Given the description of an element on the screen output the (x, y) to click on. 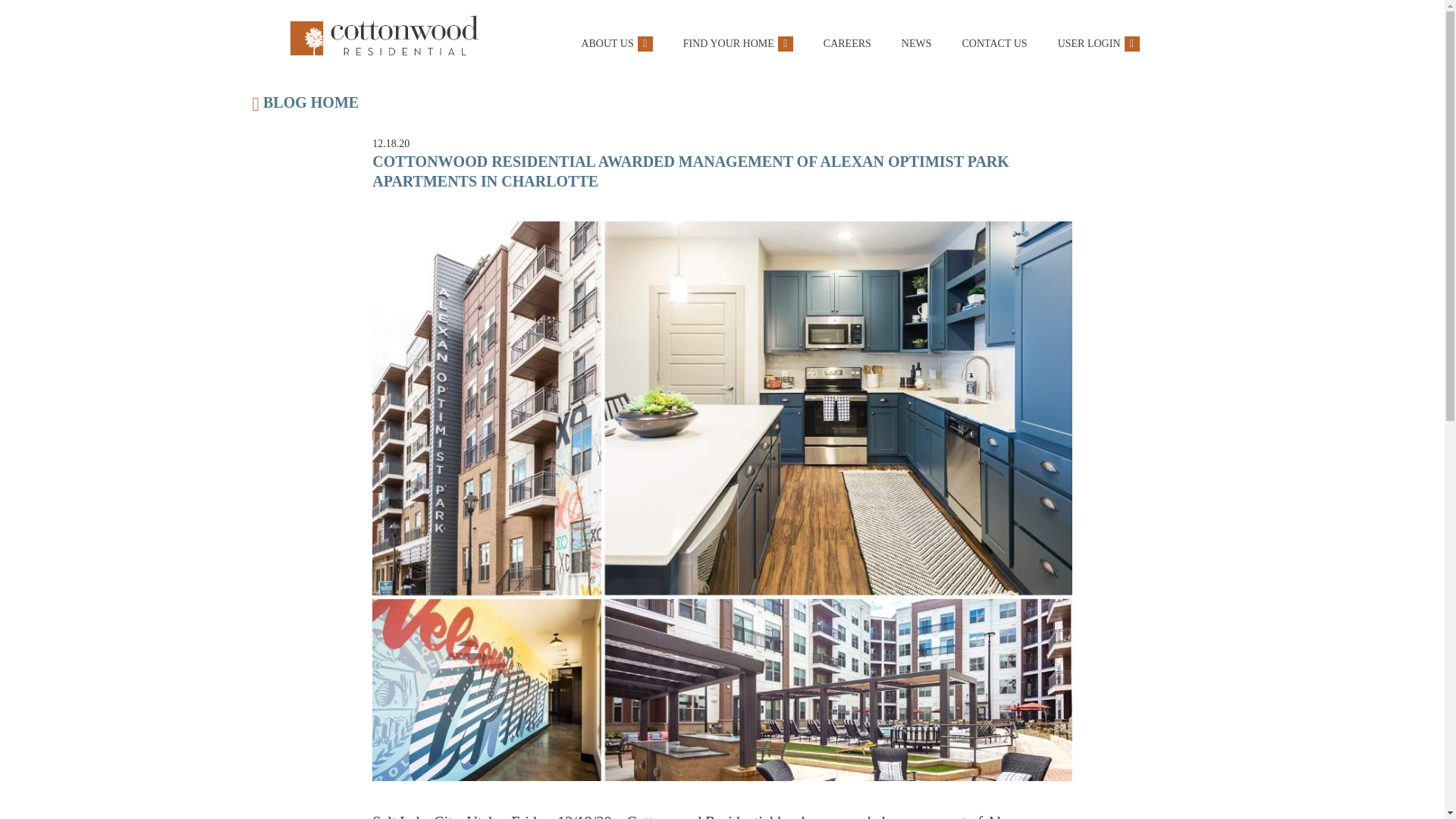
BLOG HOME (721, 106)
